Given the description of an element on the screen output the (x, y) to click on. 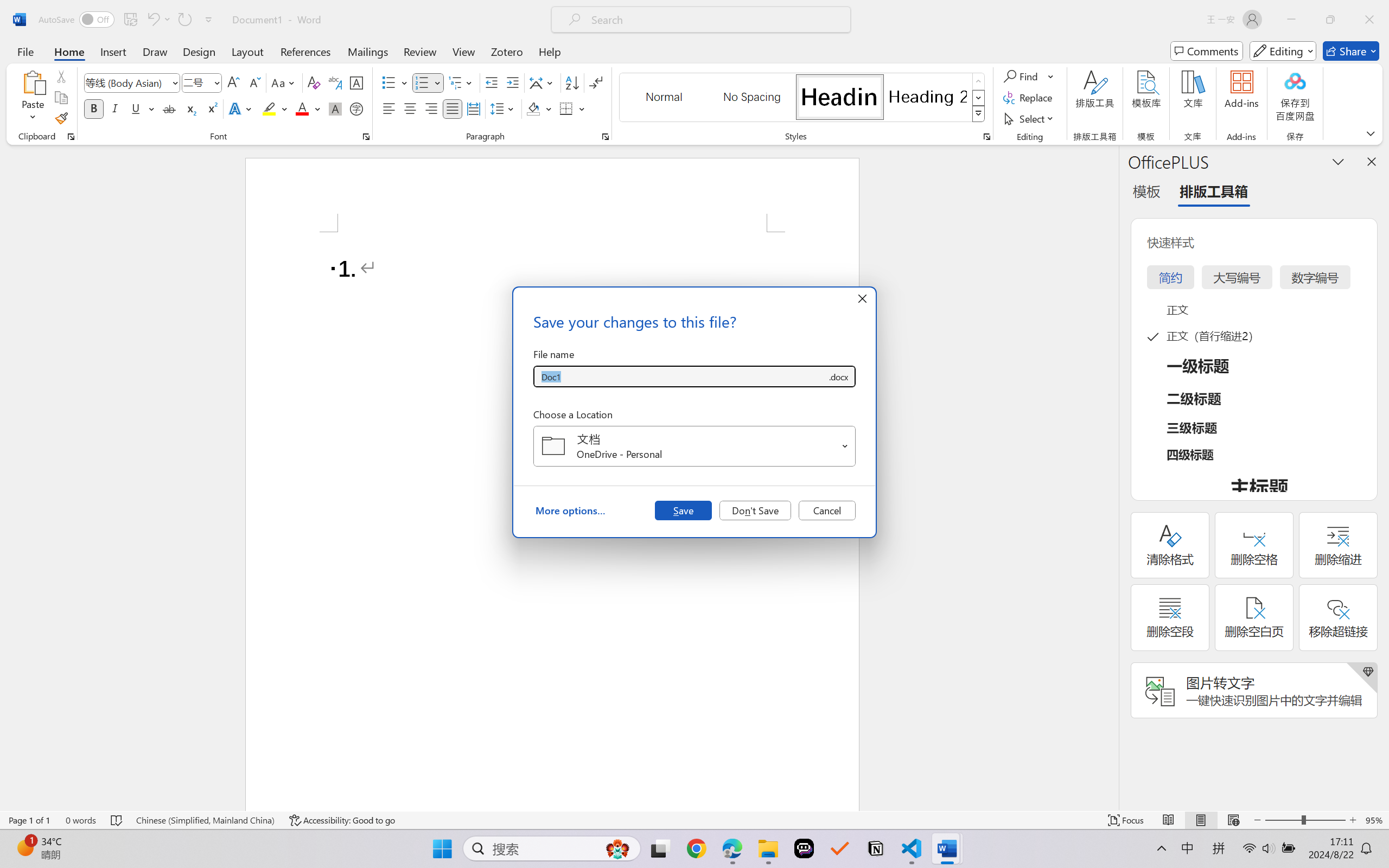
Language Chinese (Simplified, Mainland China) (205, 819)
Repeat Number Default (184, 19)
